Given the description of an element on the screen output the (x, y) to click on. 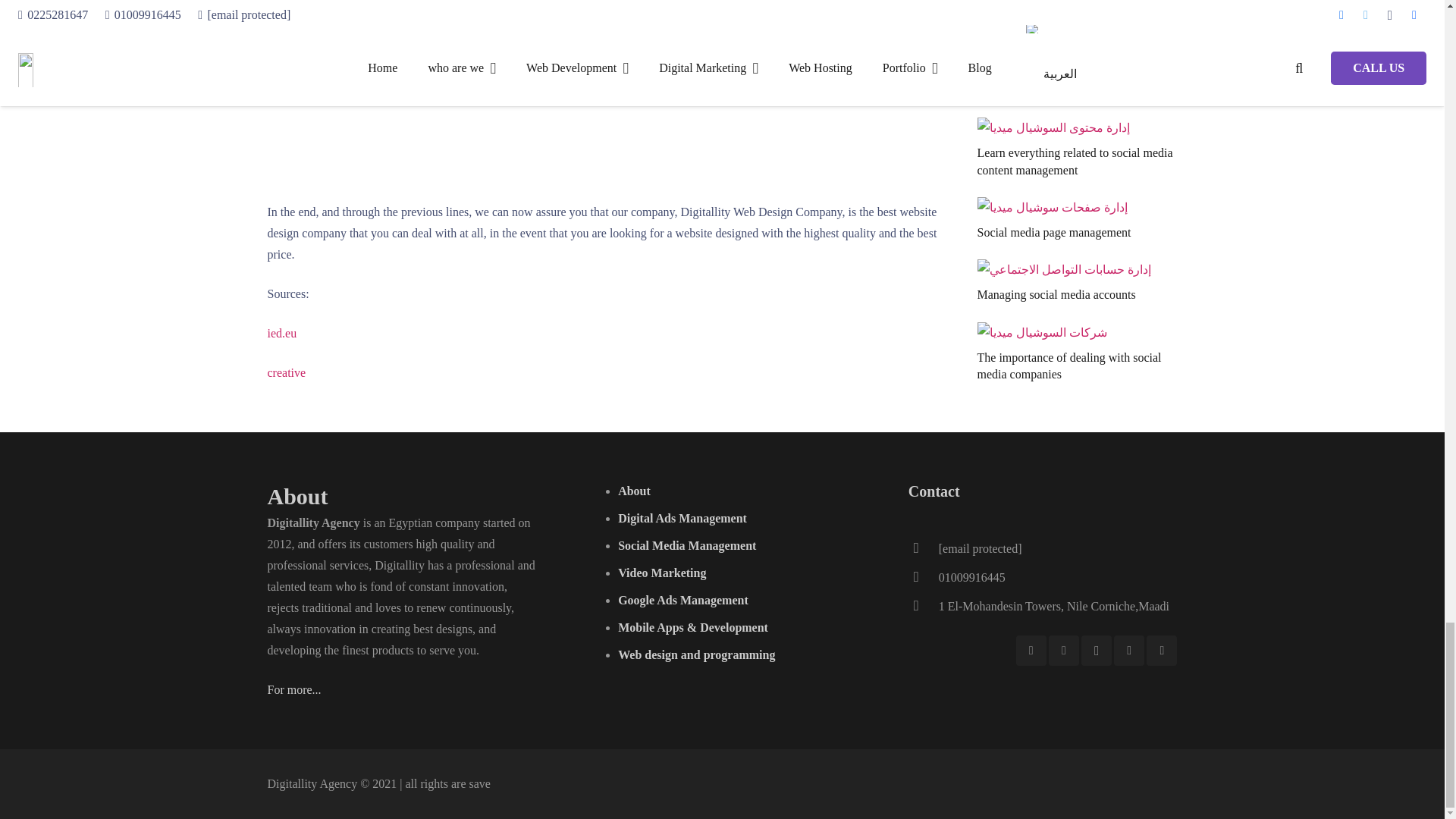
Twitter (1063, 650)
Behance (1161, 650)
How to create a professional website from scratch in minutes (509, 88)
Facebook (1031, 650)
creative (285, 372)
YouTube (1128, 650)
Instagram (1096, 650)
ied.eu (281, 332)
